Given the description of an element on the screen output the (x, y) to click on. 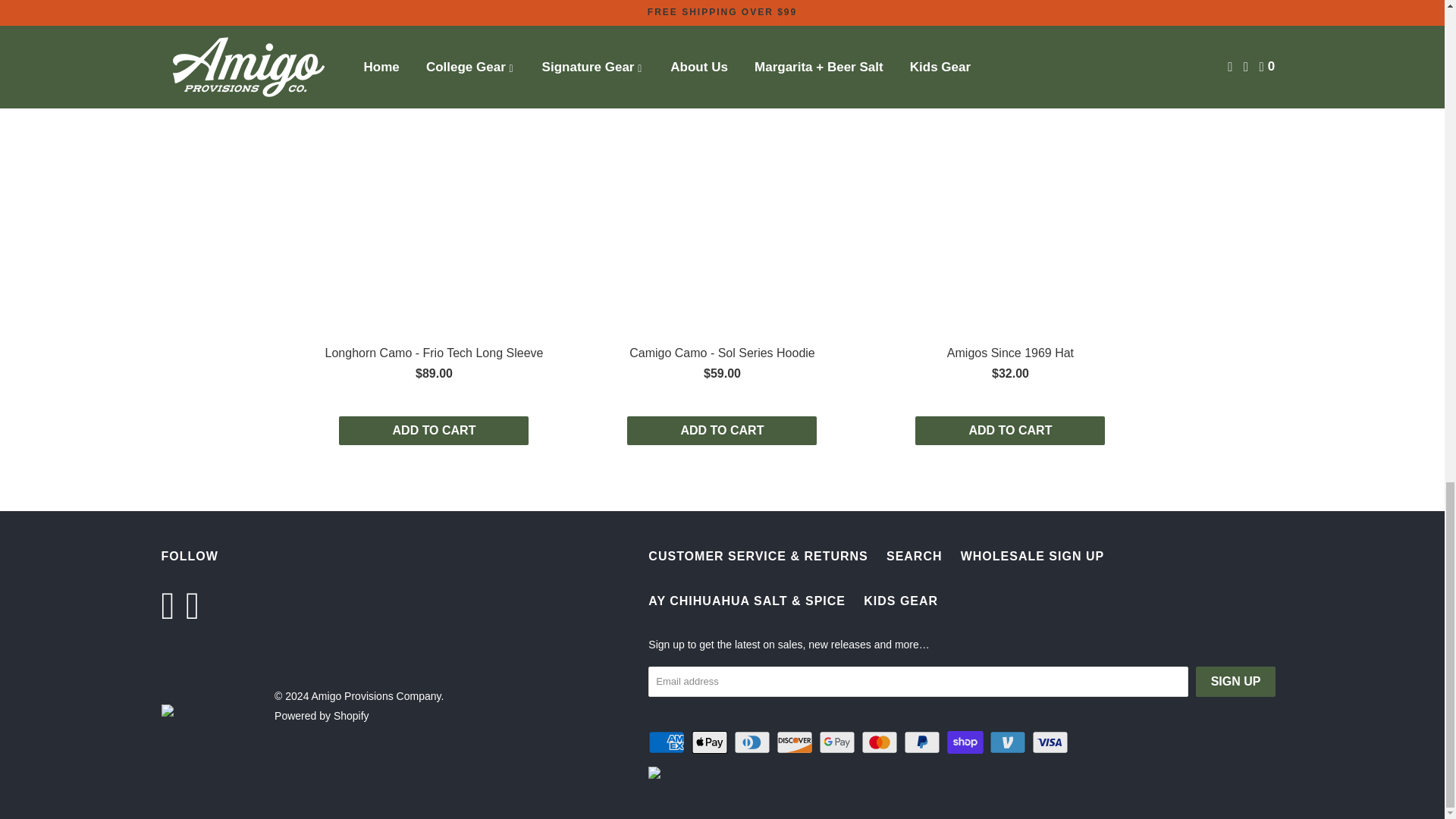
American Express (667, 742)
Sign Up (1235, 681)
Diners Club (753, 742)
Venmo (1009, 742)
Shop Pay (967, 742)
Apple Pay (710, 742)
PayPal (923, 742)
Google Pay (838, 742)
Mastercard (881, 742)
Visa (1051, 742)
Discover (795, 742)
